Given the description of an element on the screen output the (x, y) to click on. 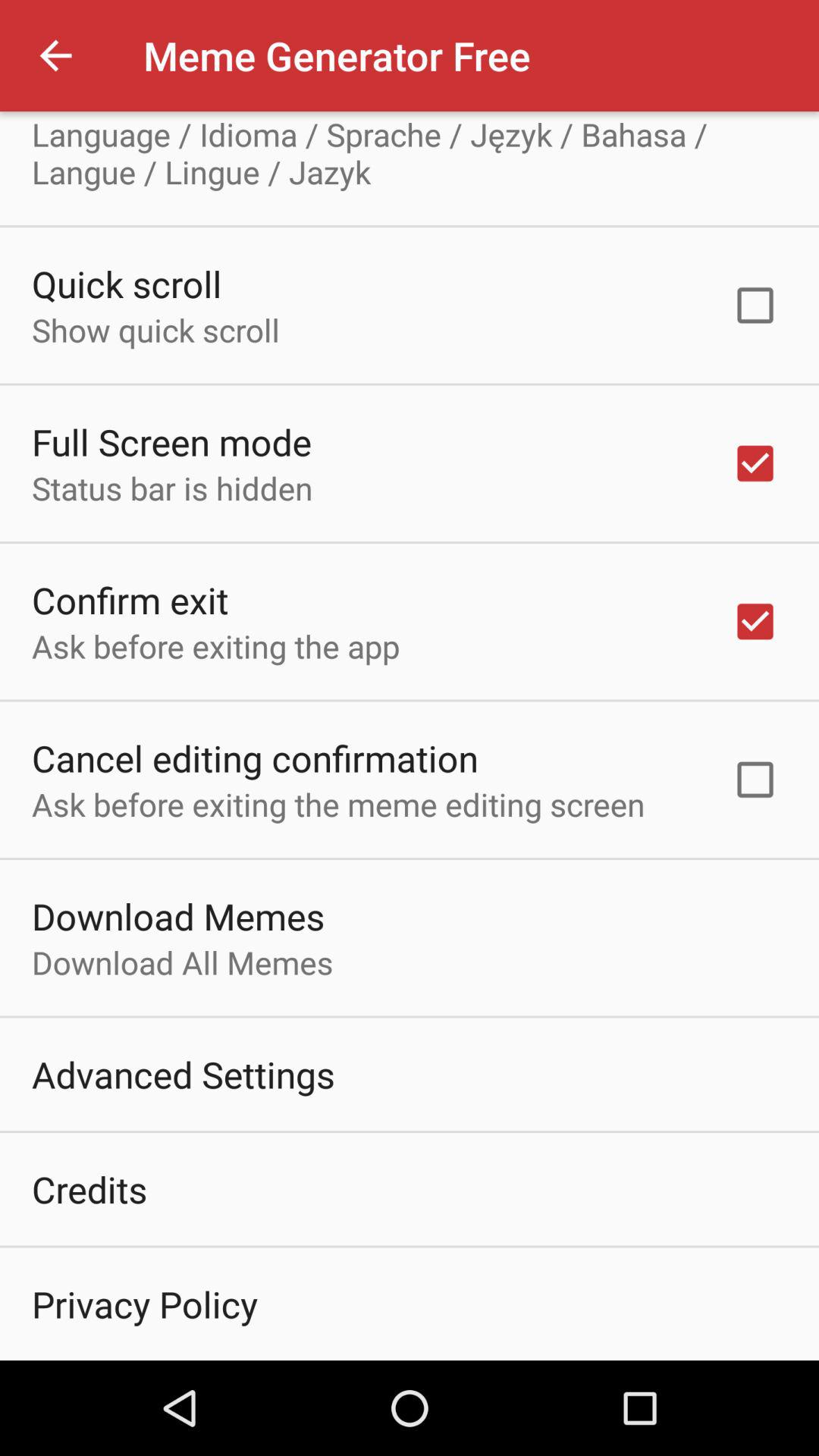
open icon above the quick scroll icon (409, 152)
